Given the description of an element on the screen output the (x, y) to click on. 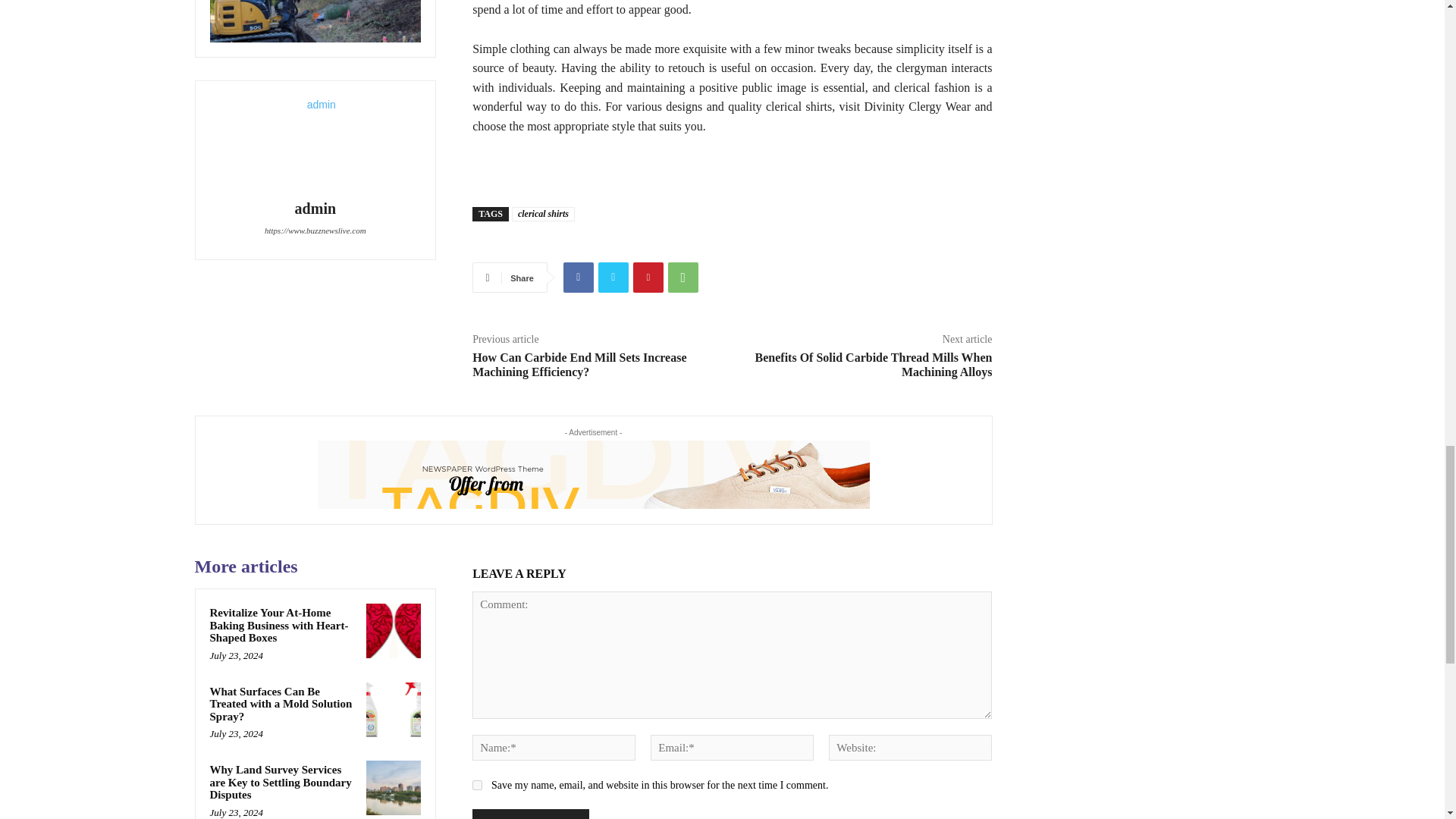
yes (476, 785)
Post Comment (529, 814)
